Given the description of an element on the screen output the (x, y) to click on. 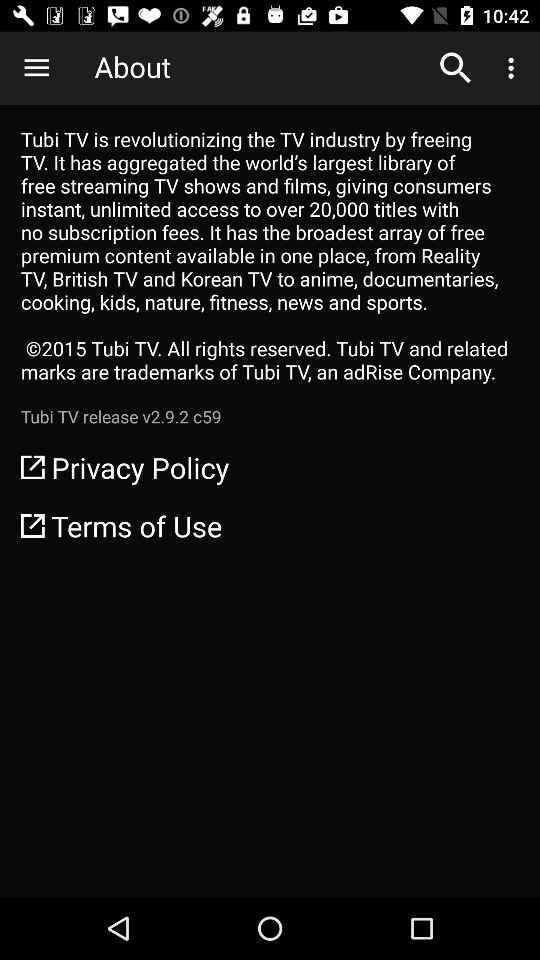
click the terms of use item (270, 525)
